Given the description of an element on the screen output the (x, y) to click on. 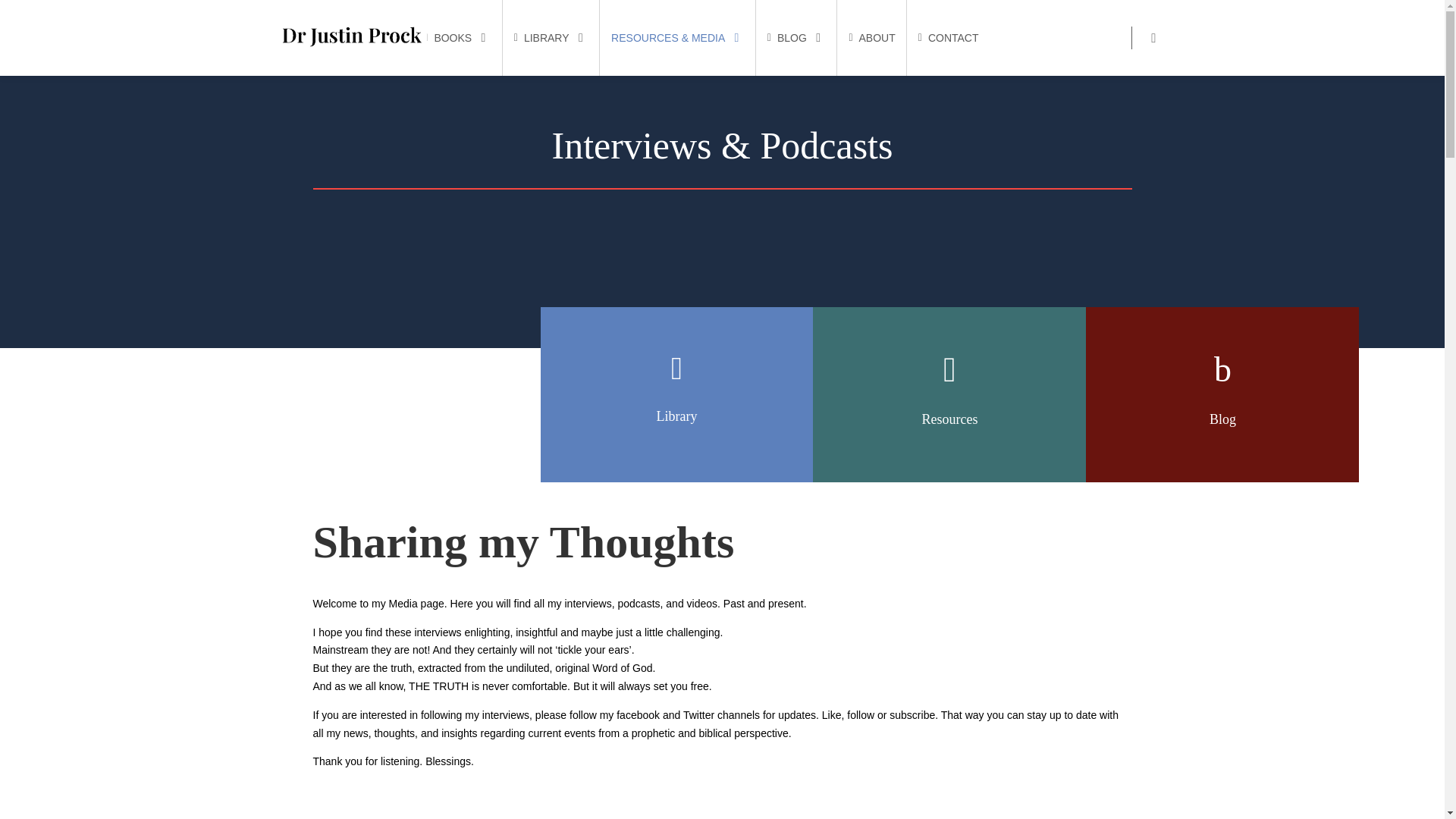
ABOUT (871, 37)
LIBRARY (550, 37)
CONTACT (948, 37)
BOOKS (456, 37)
BLOG (797, 37)
